Given the description of an element on the screen output the (x, y) to click on. 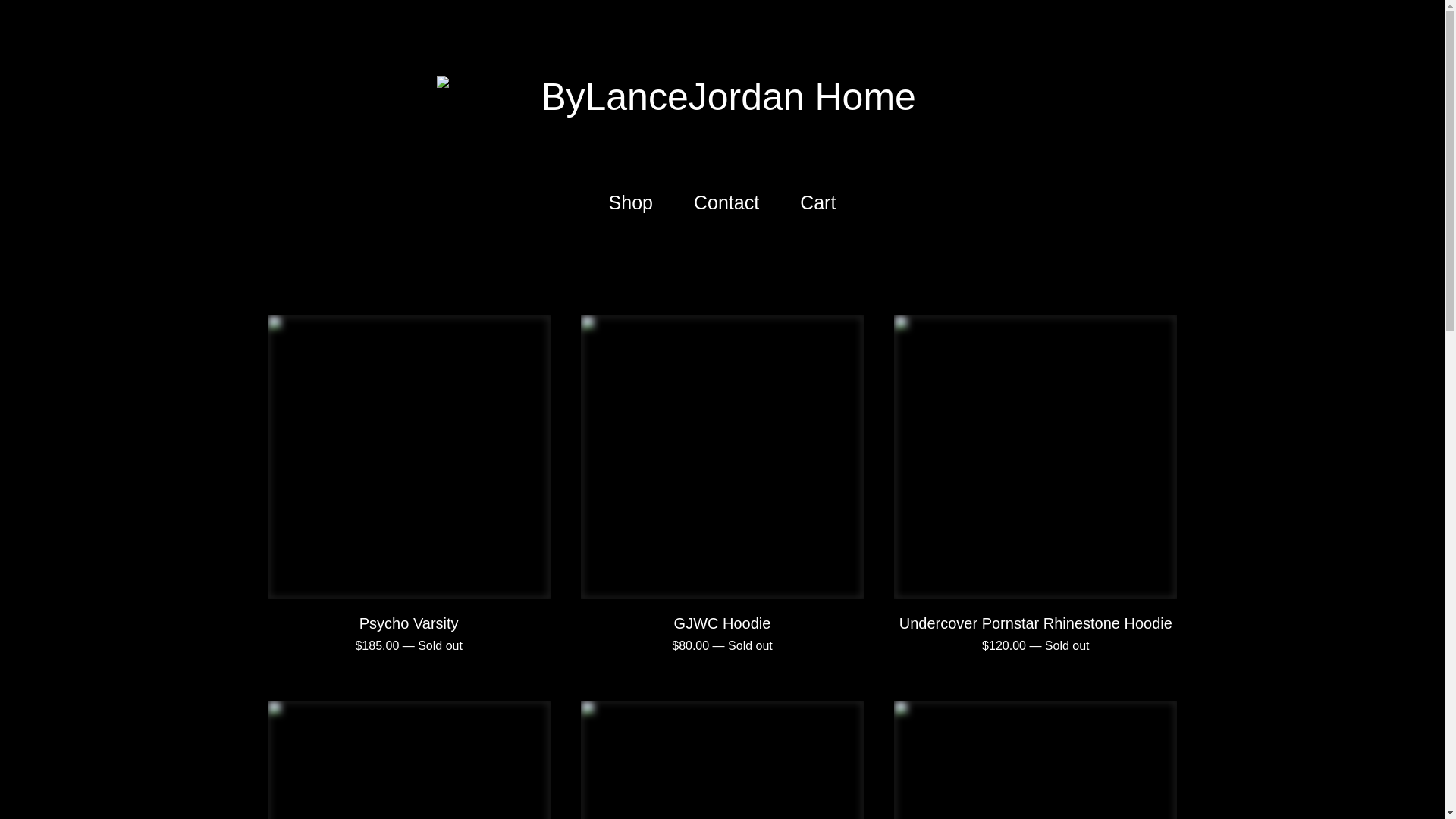
Cart Element type: text (817, 202)
Contact Element type: text (726, 202)
Shop Element type: text (630, 202)
